Given the description of an element on the screen output the (x, y) to click on. 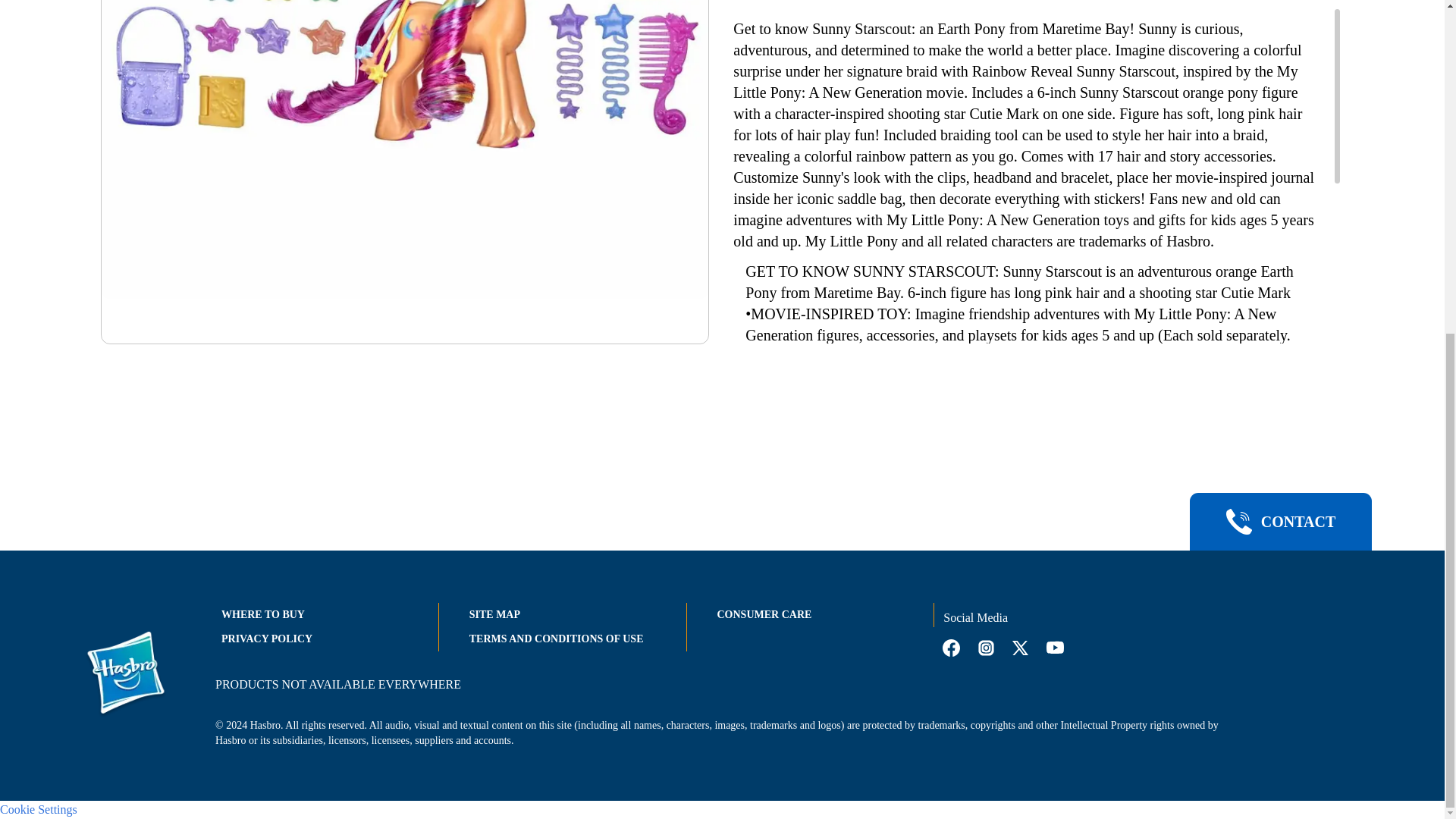
PRIVACY POLICY (267, 638)
SITE MAP (493, 614)
CONSUMER CARE (764, 614)
WHERE TO BUY (262, 614)
TERMS AND CONDITIONS OF USE (555, 638)
